Given the description of an element on the screen output the (x, y) to click on. 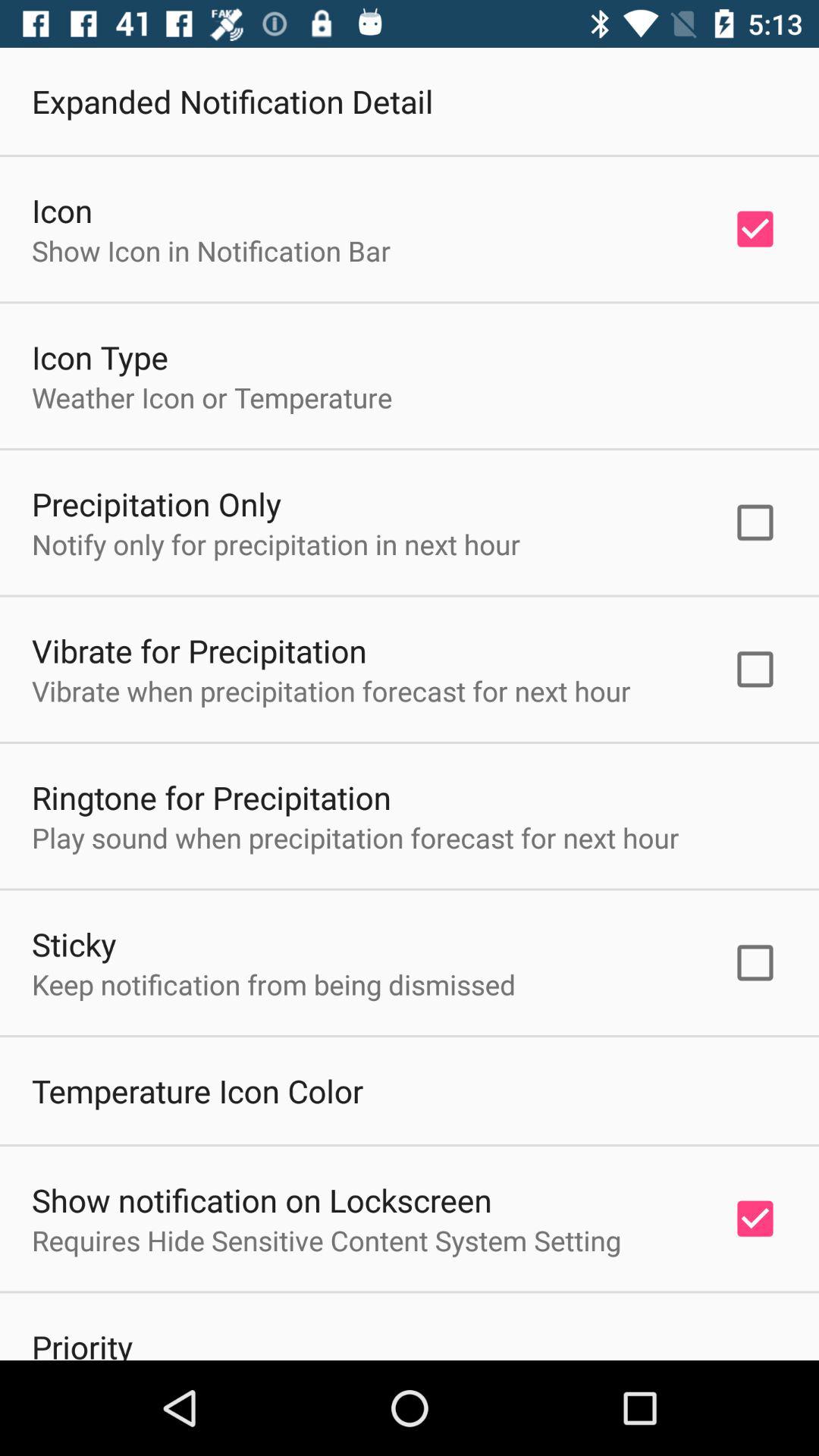
scroll until the keep notification from icon (273, 984)
